Given the description of an element on the screen output the (x, y) to click on. 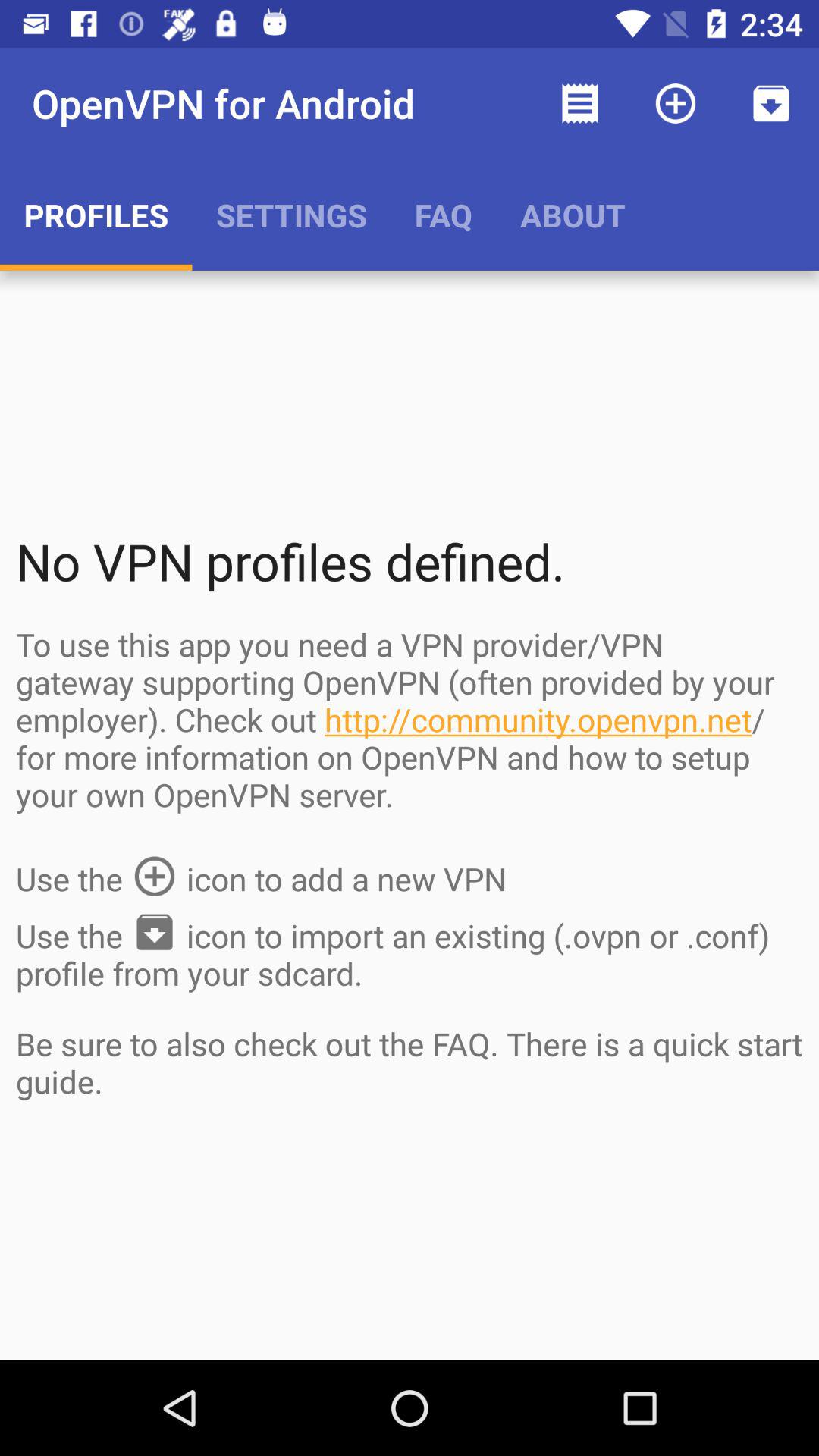
select the app next to the profiles (291, 214)
